Given the description of an element on the screen output the (x, y) to click on. 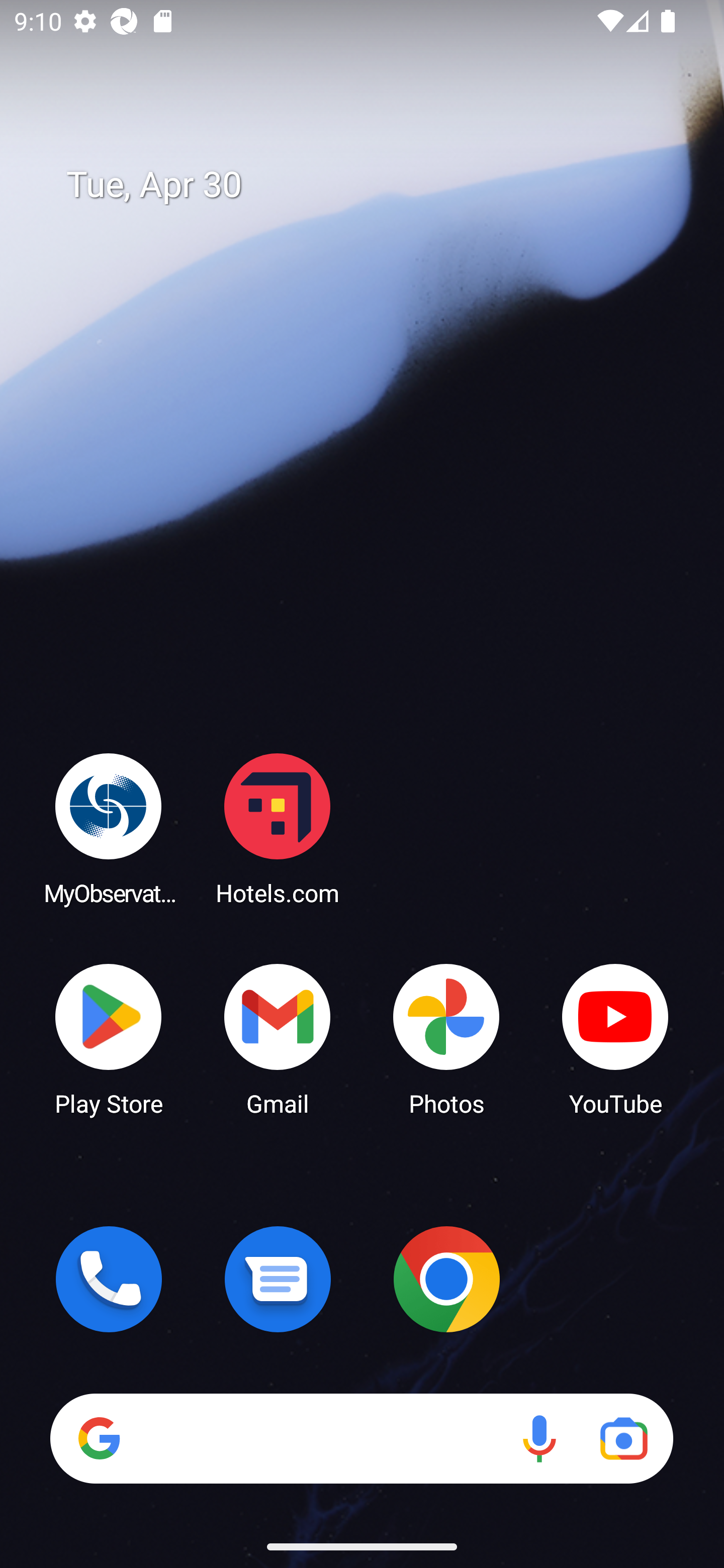
Tue, Apr 30 (375, 184)
MyObservatory (108, 828)
Hotels.com (277, 828)
Play Store (108, 1038)
Gmail (277, 1038)
Photos (445, 1038)
YouTube (615, 1038)
Phone (108, 1279)
Messages (277, 1279)
Chrome (446, 1279)
Search Voice search Google Lens (361, 1438)
Voice search (539, 1438)
Google Lens (623, 1438)
